Given the description of an element on the screen output the (x, y) to click on. 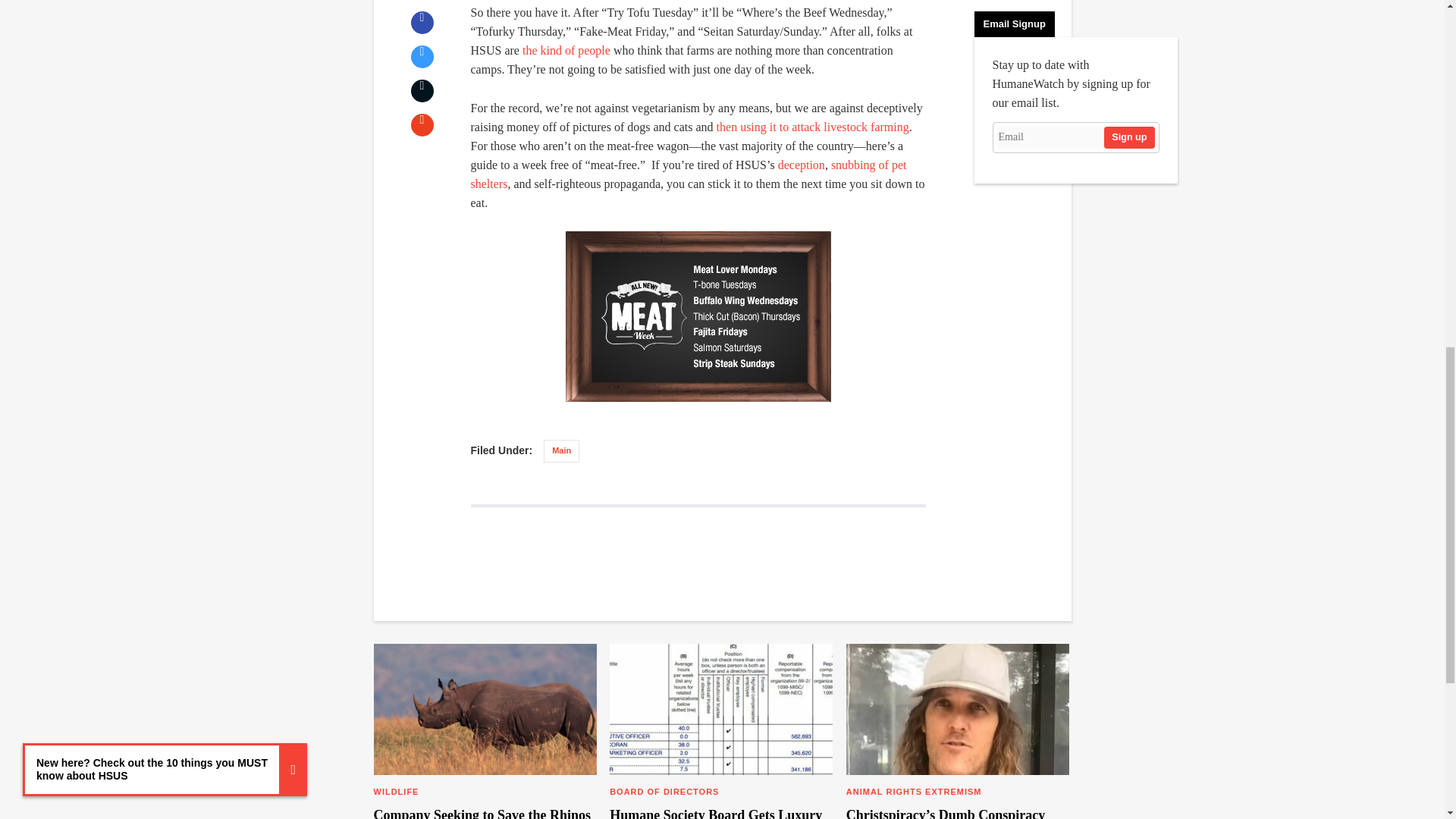
then using it to attack livestock farming (812, 126)
snubbing of pet shelters (687, 174)
the kind of people (566, 50)
deception (801, 164)
Main (561, 450)
